Given the description of an element on the screen output the (x, y) to click on. 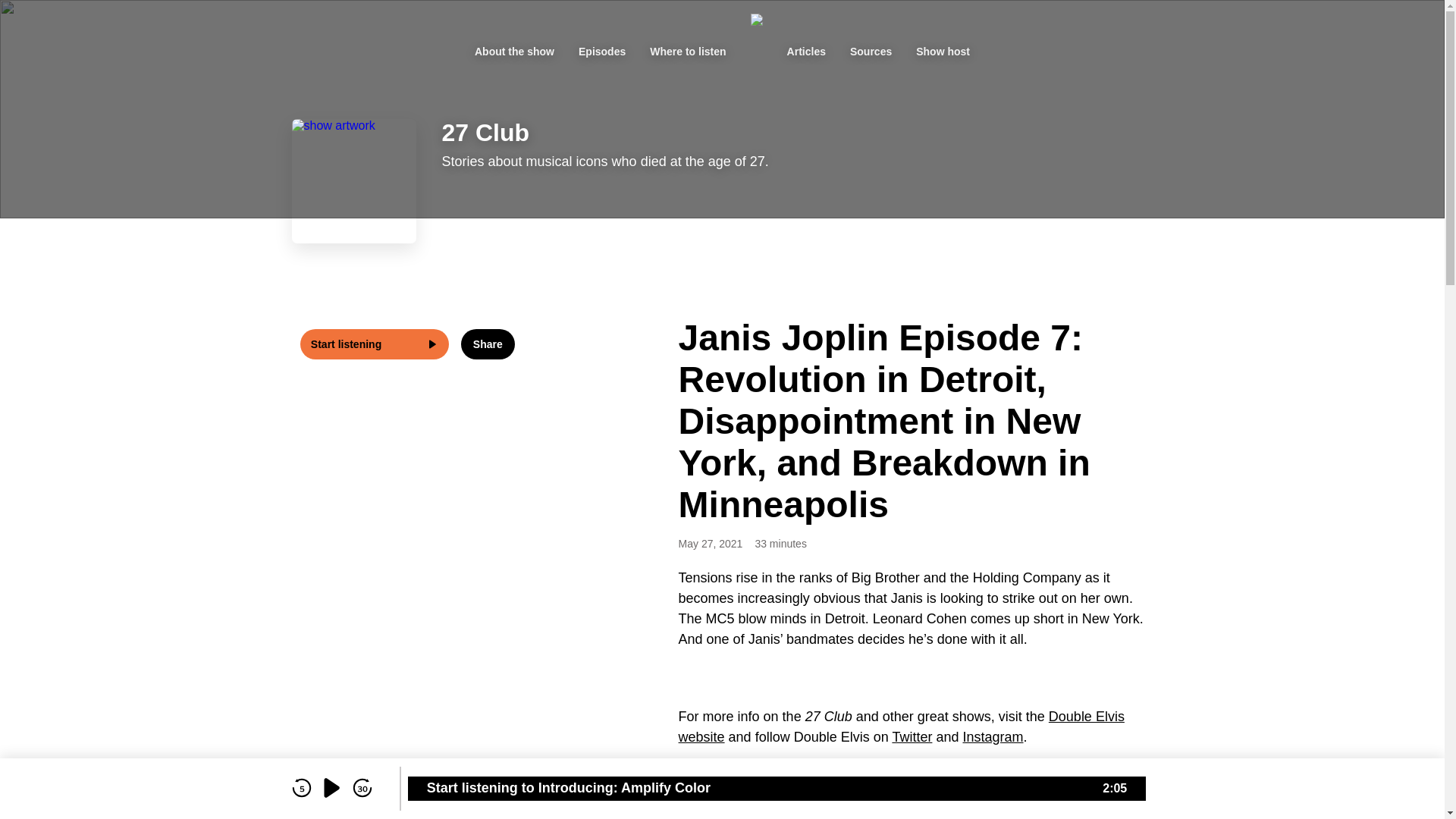
Share Element type: text (487, 344)
Instagram Element type: text (992, 736)
Show host Element type: text (942, 51)
https://www.iheartpodcastnetwork.com Element type: text (1021, 775)
Episodes Element type: text (601, 51)
Articles Element type: text (806, 51)
Double Elvis website Element type: text (901, 726)
Twitter Element type: text (911, 736)
Where to listen Element type: text (687, 51)
About the show Element type: text (514, 51)
27 Club Element type: text (485, 132)
Sources Element type: text (870, 51)
Start listening Element type: text (374, 344)
